Given the description of an element on the screen output the (x, y) to click on. 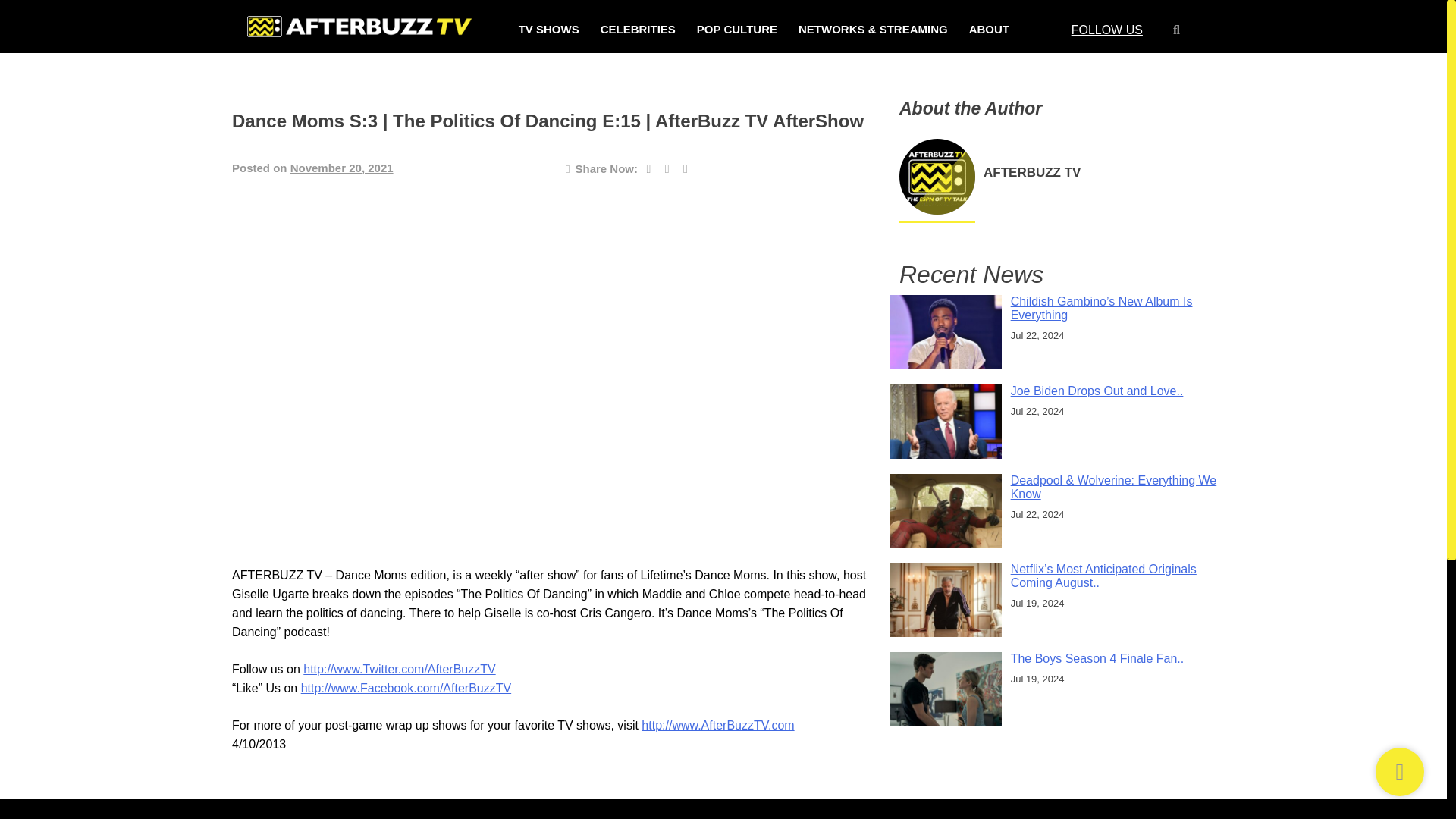
FOLLOW US (1106, 29)
POP CULTURE (737, 29)
TV SHOWS (548, 29)
The Boys Season 4 Finale Fan.. (1097, 658)
November 20, 2021 (341, 167)
CELEBRITIES (637, 29)
Joe Biden Drops Out and Love.. (1096, 390)
